Given the description of an element on the screen output the (x, y) to click on. 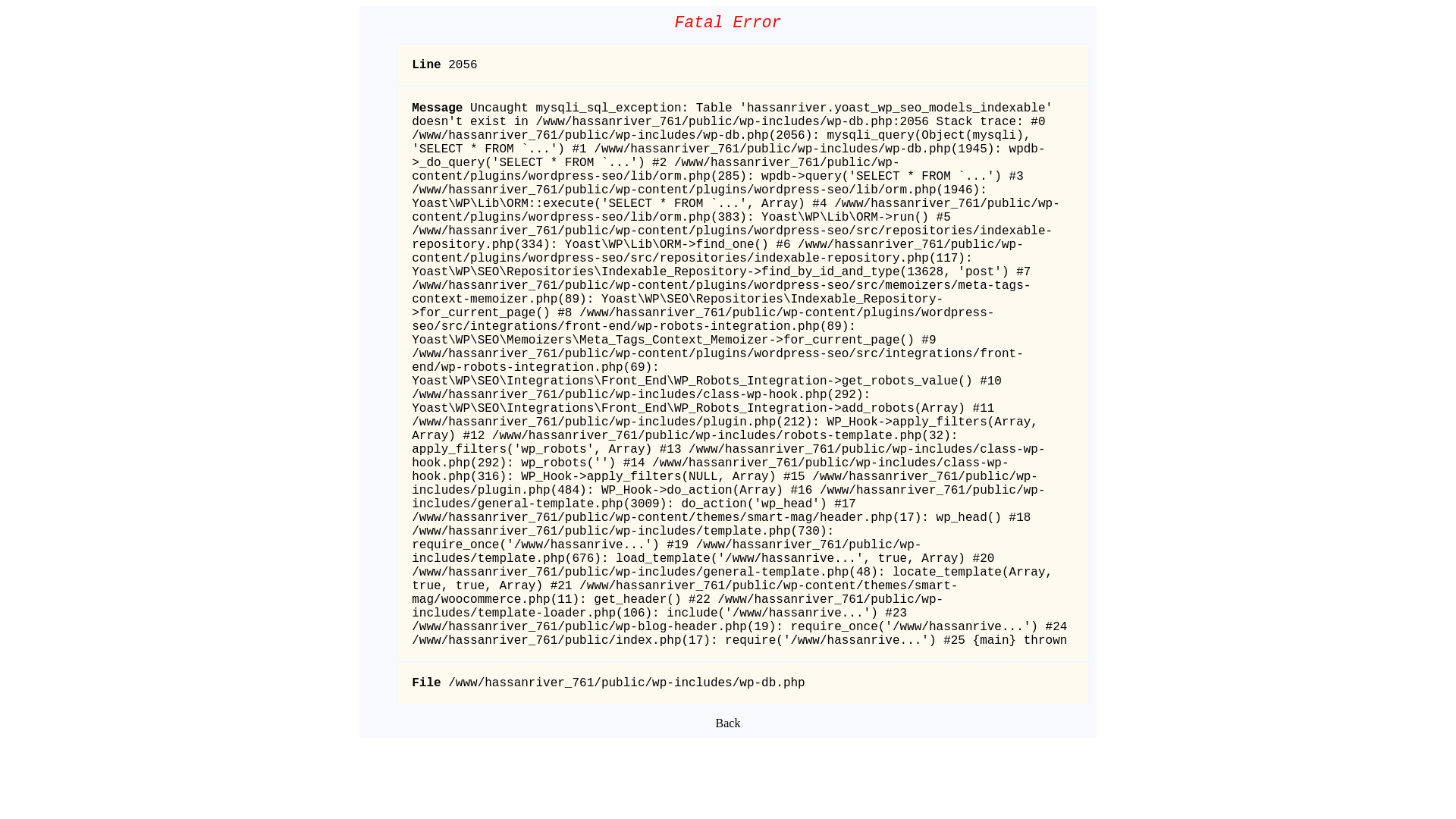
Back (728, 722)
